Given the description of an element on the screen output the (x, y) to click on. 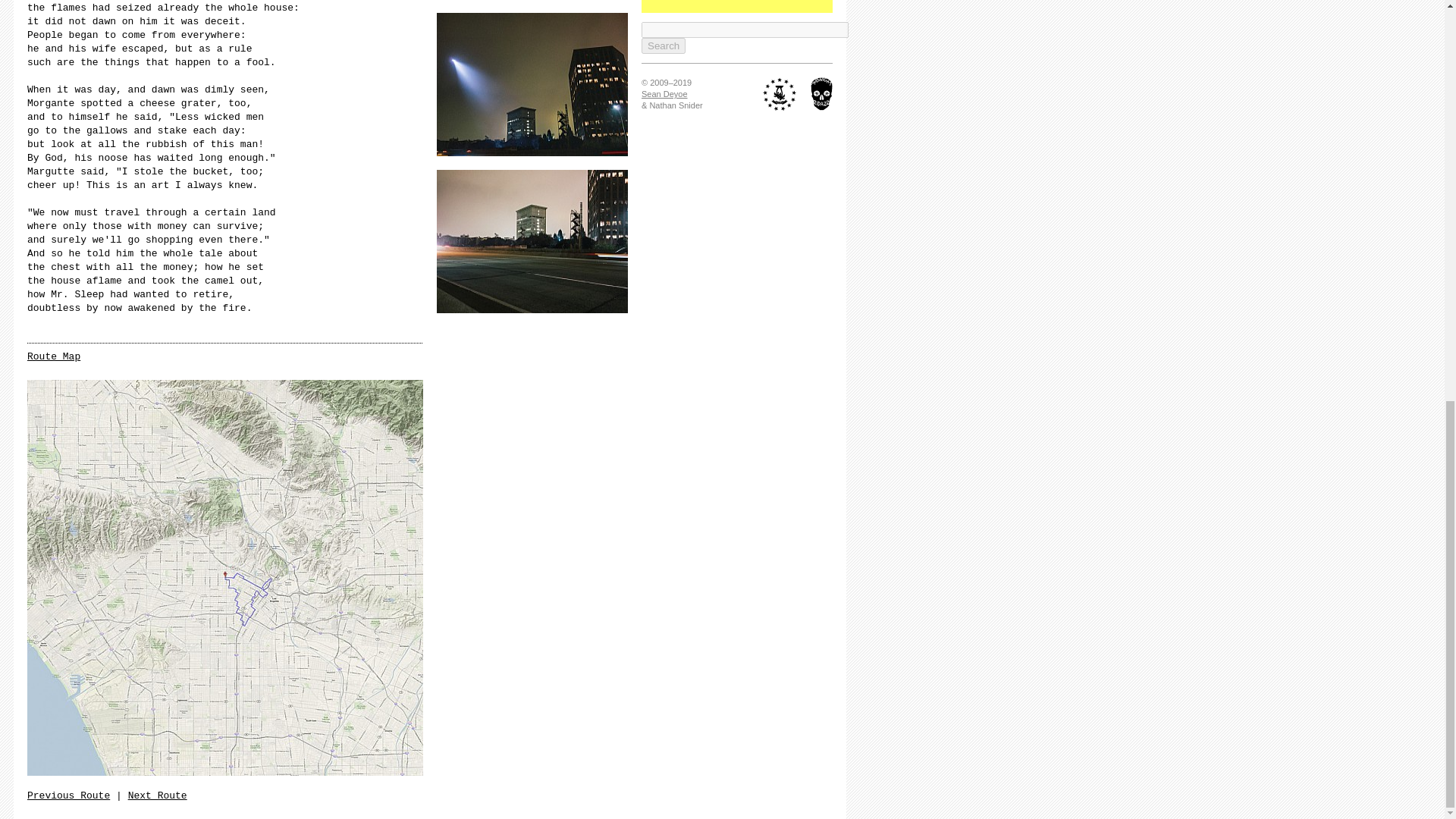
Next Route (157, 795)
Search (663, 45)
Previous Route (68, 795)
Route Map (53, 356)
Search (663, 45)
